Given the description of an element on the screen output the (x, y) to click on. 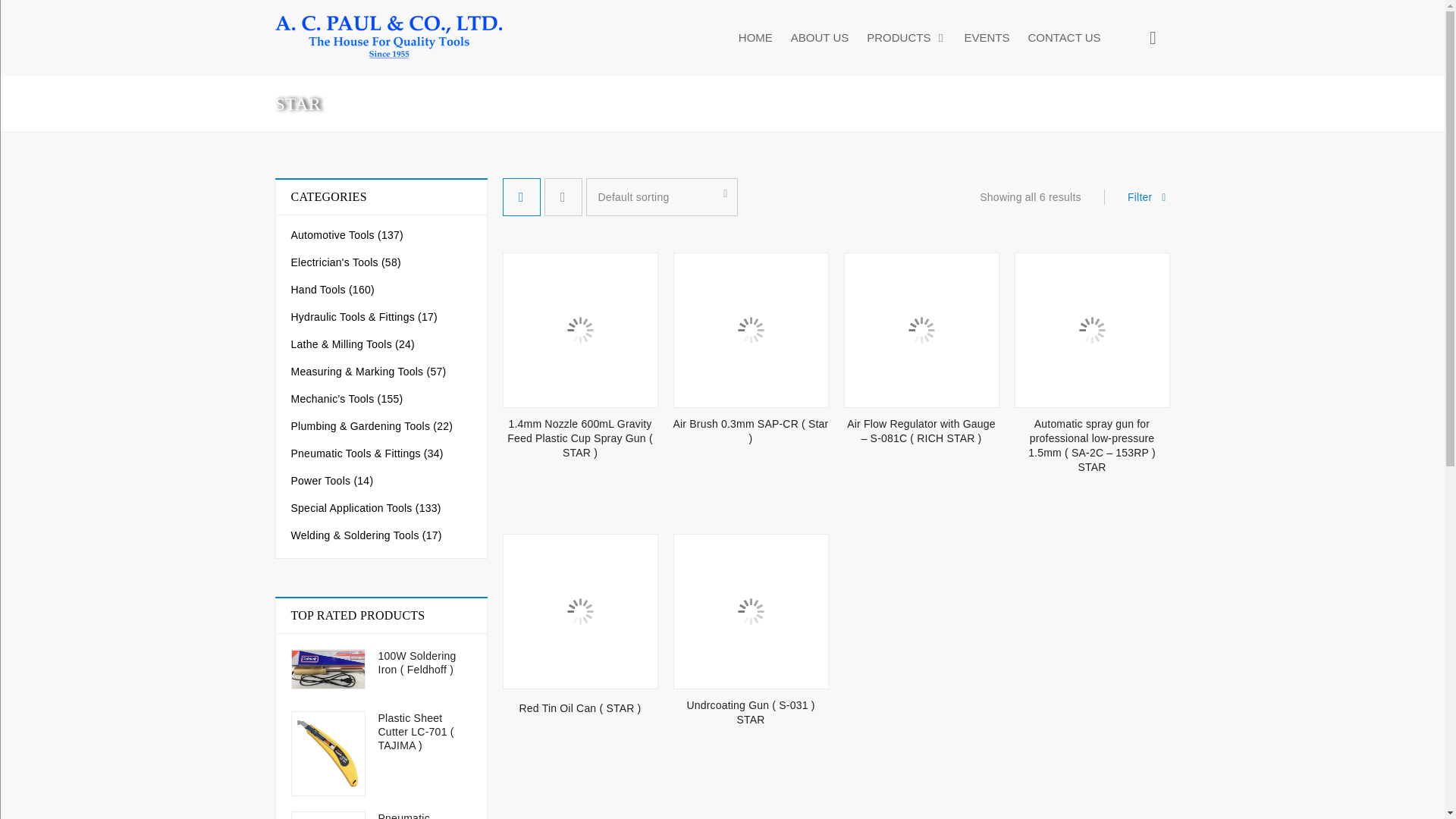
List view (563, 197)
Acpaul (388, 38)
Grid view (521, 197)
PRODUCTS (905, 38)
